Given the description of an element on the screen output the (x, y) to click on. 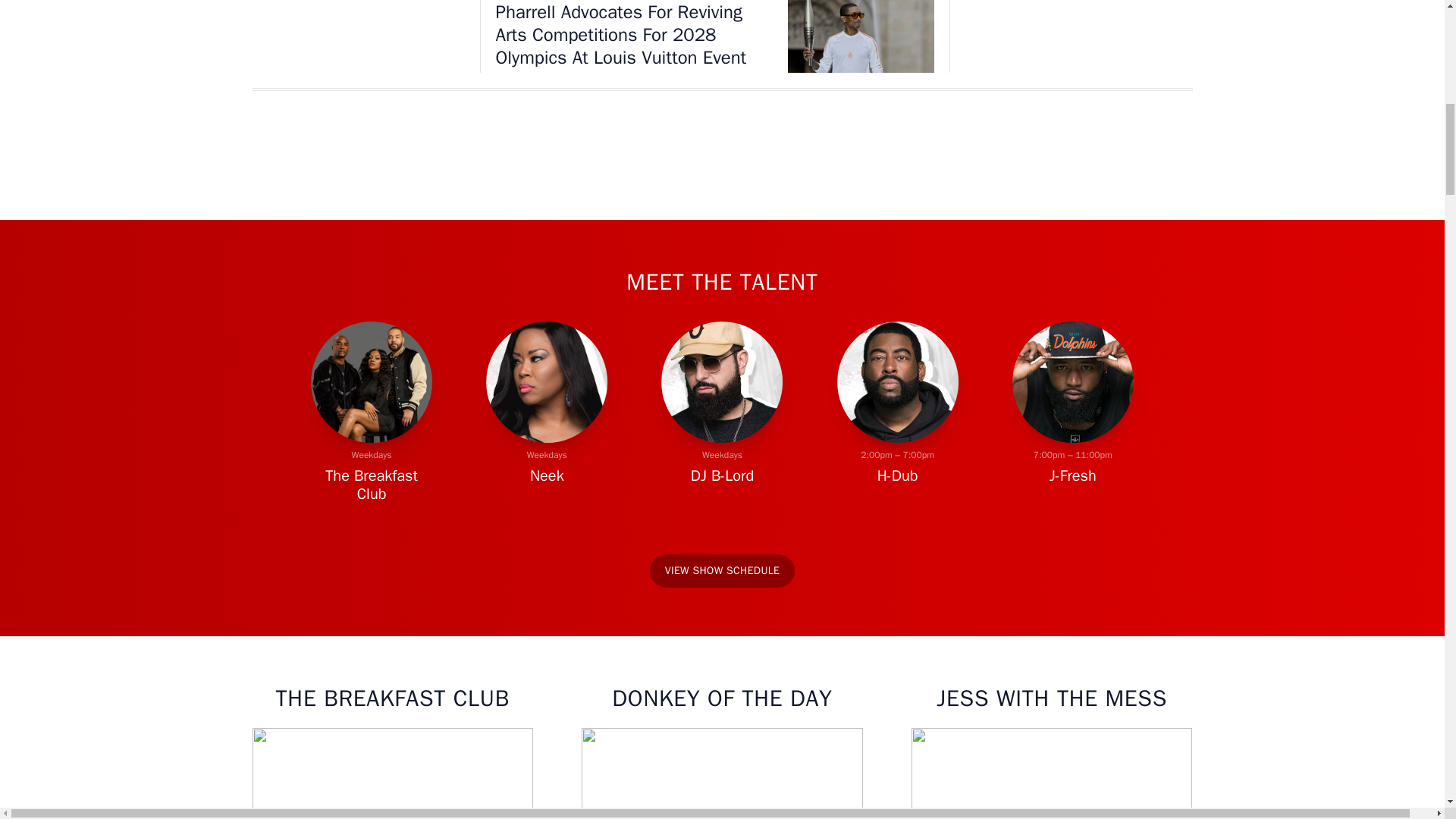
3rd party ad content (1077, 10)
3rd party ad content (721, 170)
